Given the description of an element on the screen output the (x, y) to click on. 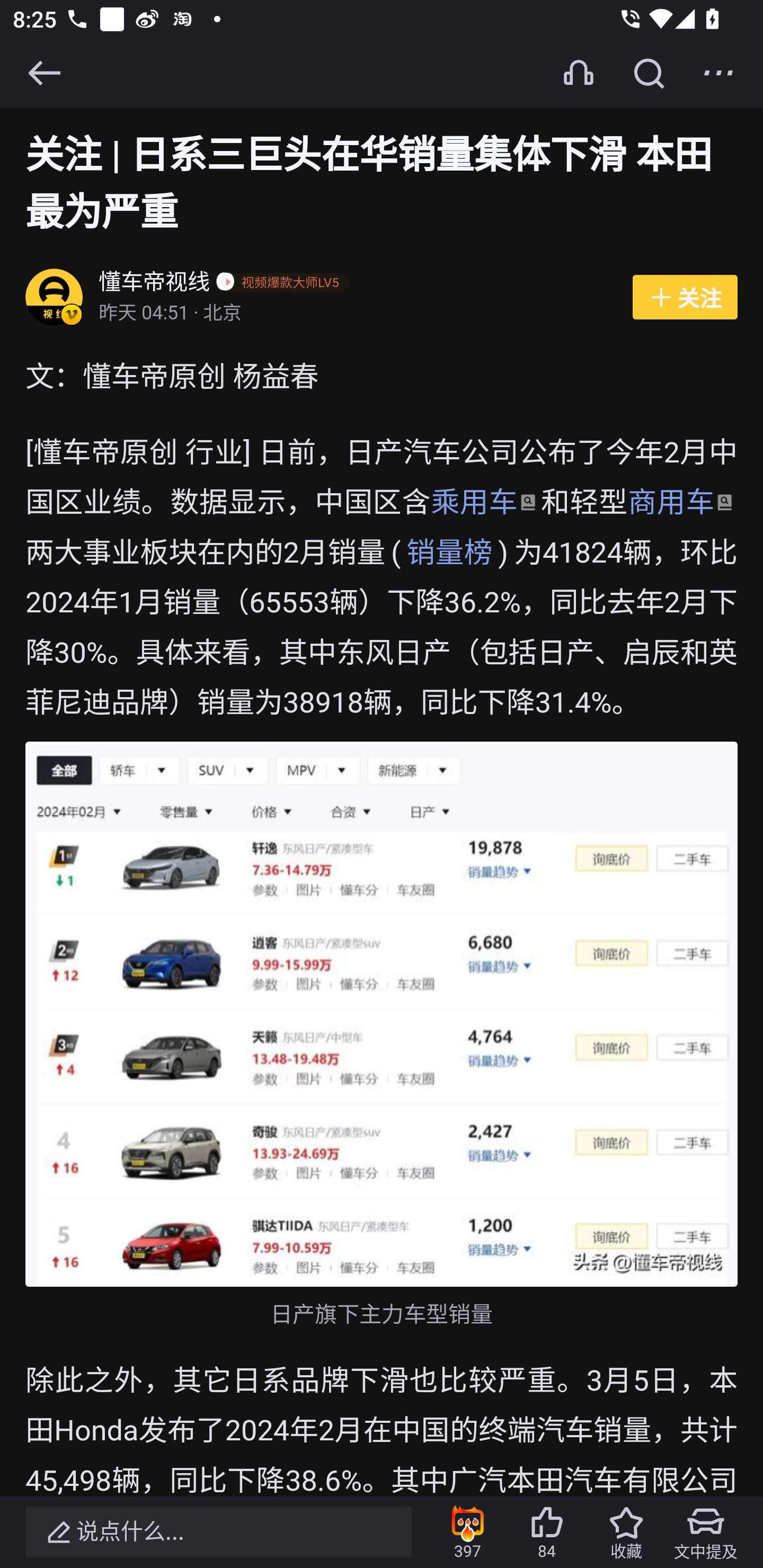
 (44, 72)
 (648, 72)
 (718, 72)
懂车帝视线 (154, 283)
c9cb558bacd790f5b8d2c5f3a44a9243 视频爆款大师LV5 (285, 283)
关注 (684, 297)
昨天 04:51 · 北京 昨天 04:51  · 北京 (355, 314)
销量榜 (448, 553)
b5sRPxZE6ga5ZtDJBQ9thItfzIU (381, 1013)
397 (467, 1531)
84 (546, 1531)
收藏 (625, 1531)
 文中提及 (705, 1531)
 说点什么... (218, 1531)
